Given the description of an element on the screen output the (x, y) to click on. 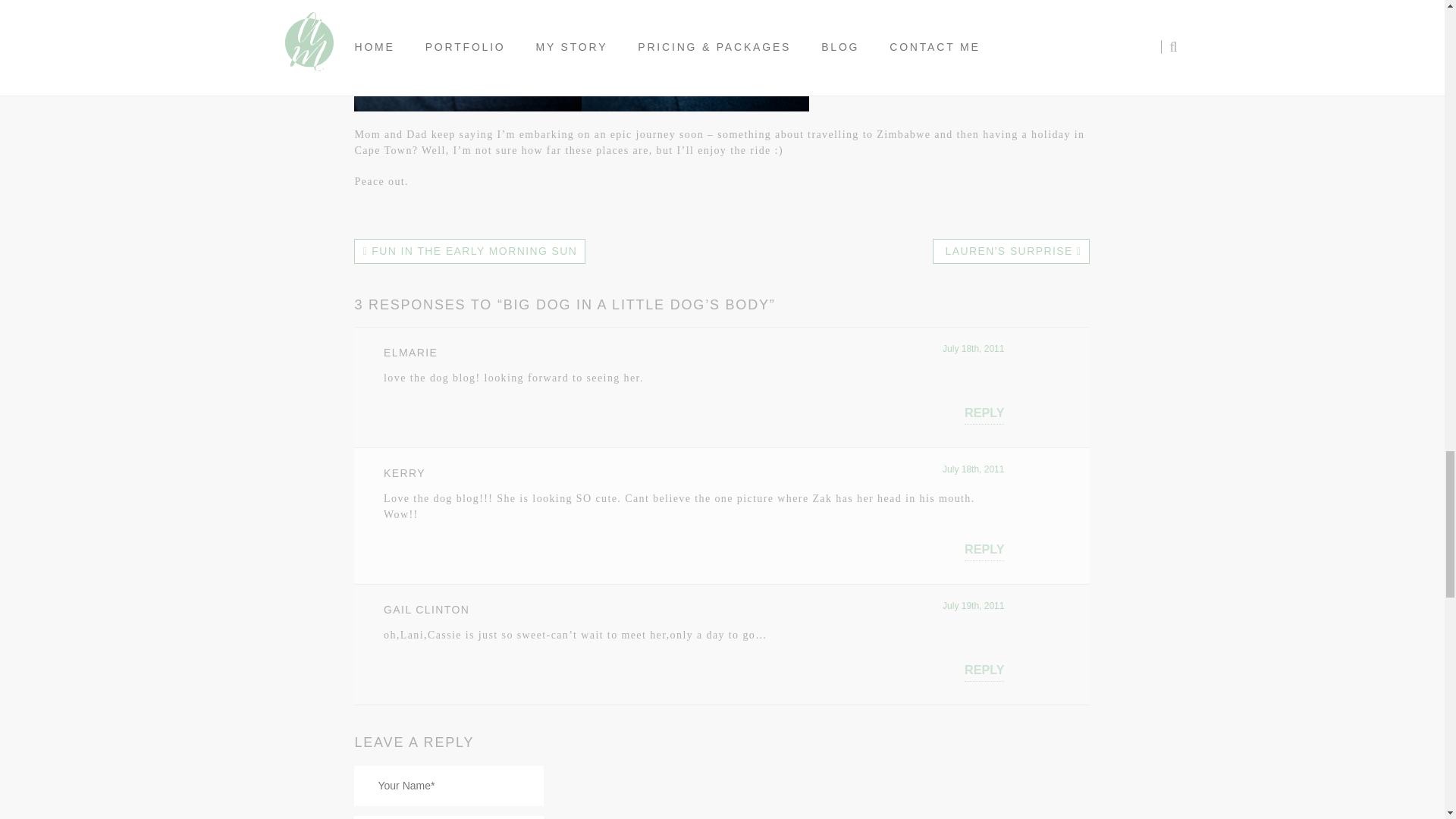
REPLY (983, 670)
dog blog photography3 (581, 55)
July 19th, 2011 (973, 605)
July 18th, 2011 (973, 348)
 LAUREN'S SURPRISE  (1011, 251)
 FUN IN THE EARLY MORNING SUN (469, 251)
REPLY (983, 413)
REPLY (983, 549)
July 18th, 2011 (973, 469)
